Given the description of an element on the screen output the (x, y) to click on. 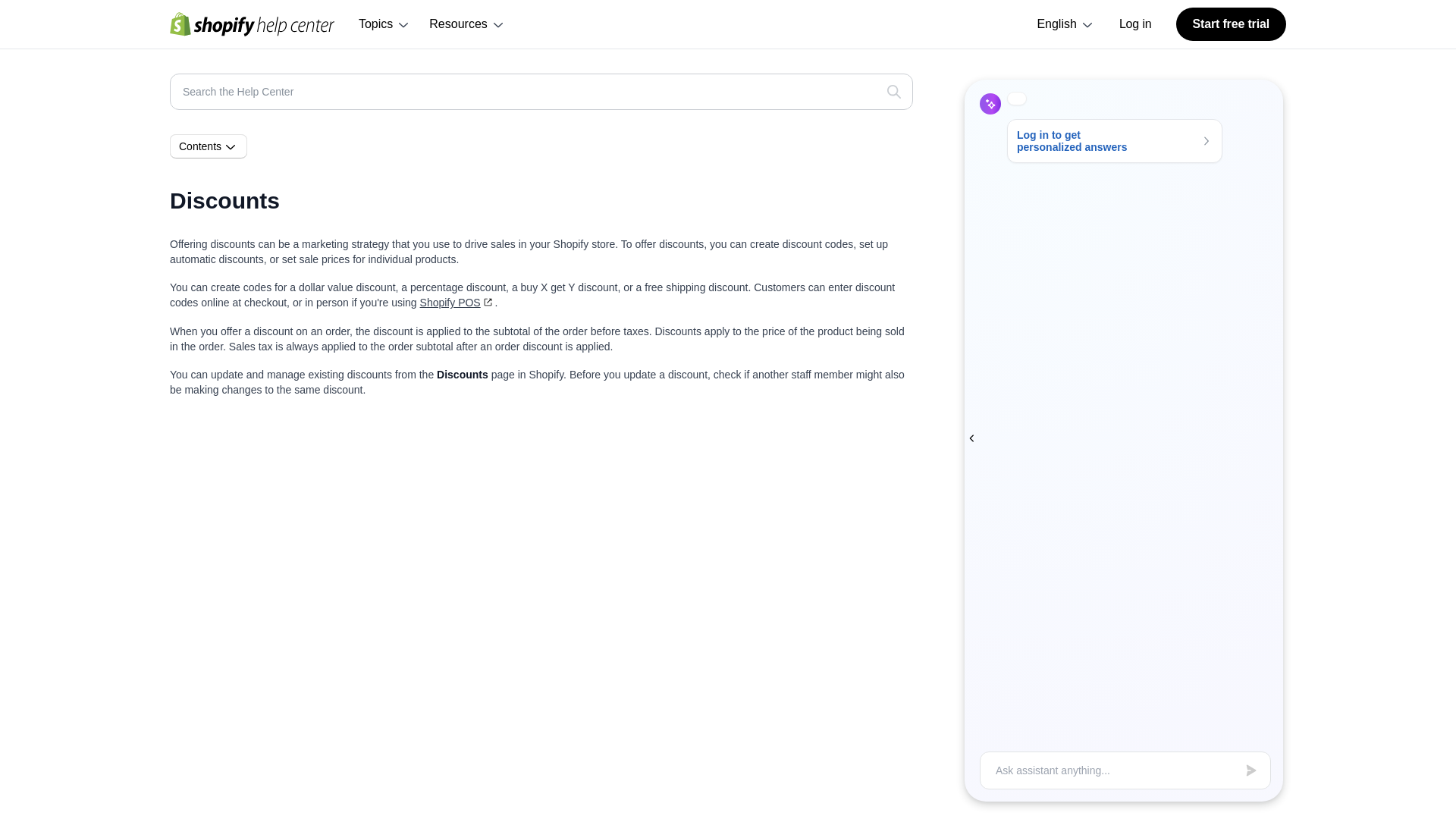
Contents (208, 146)
Log in to get personalized answers (1115, 140)
Resources (467, 24)
English (1065, 24)
Log in (1135, 23)
Shopify POS (457, 302)
Start free trial (1230, 23)
Topics (384, 24)
